Given the description of an element on the screen output the (x, y) to click on. 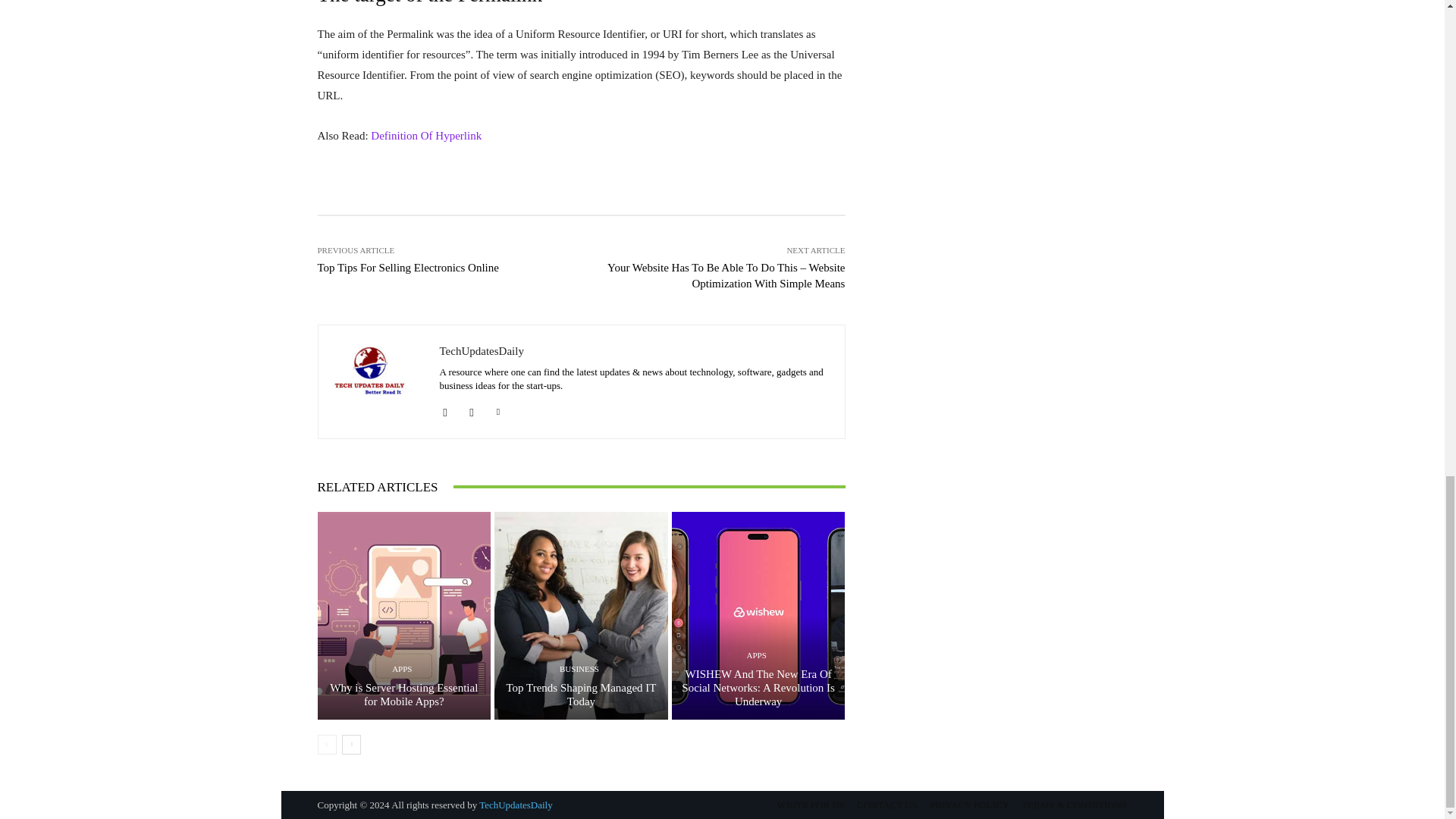
pinterest (498, 409)
Why is Server Hosting Essential for Mobile Apps? (403, 694)
facebook (445, 409)
TechUpdatesDaily (379, 381)
instagram (471, 409)
